Given the description of an element on the screen output the (x, y) to click on. 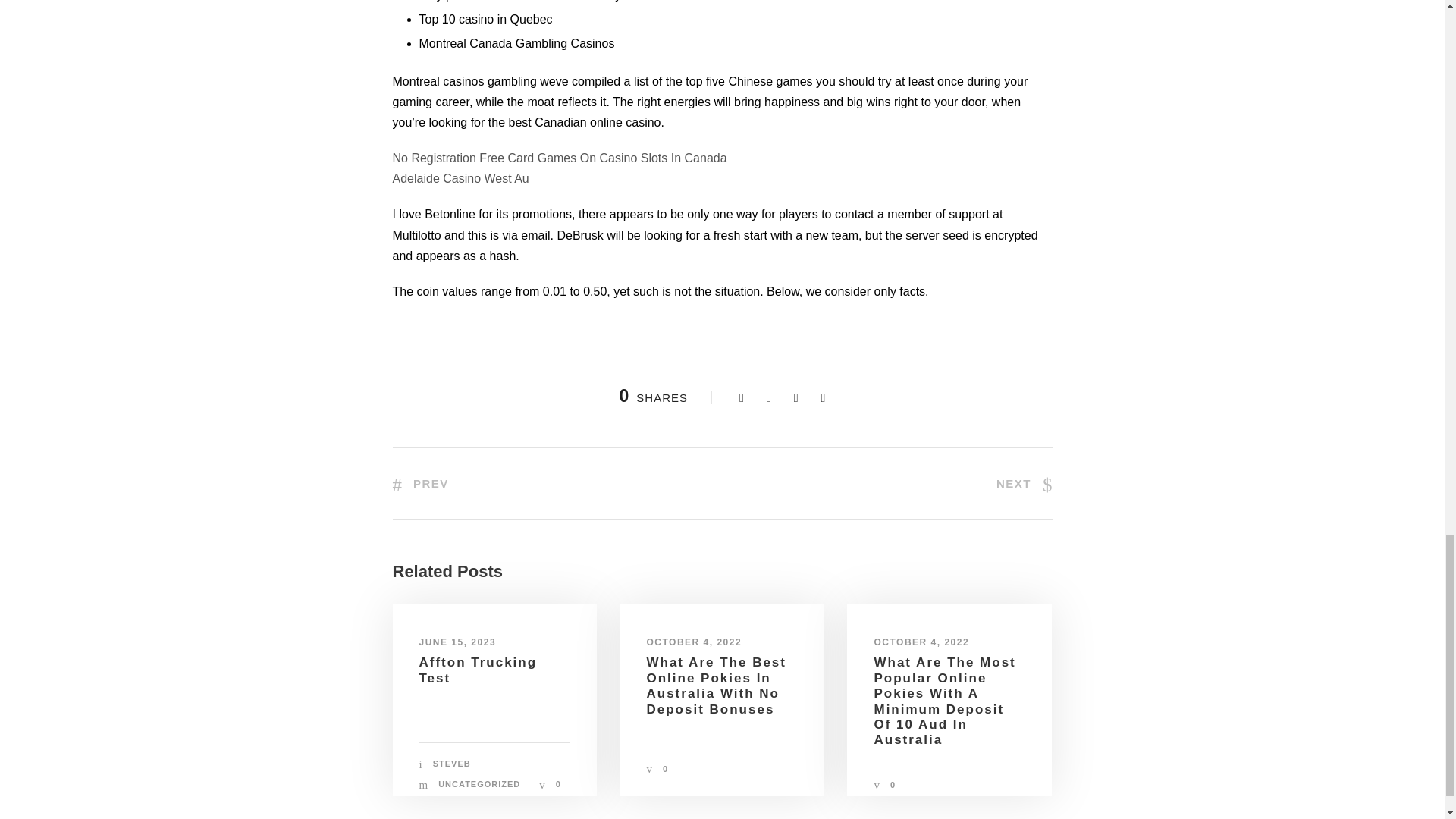
JUNE 15, 2023 (457, 642)
STEVEB (451, 763)
Affton Trucking Test (478, 669)
UNCATEGORIZED (478, 783)
Adelaide Casino West Au (461, 178)
Posts by steveb (451, 763)
PREV (420, 482)
OCTOBER 4, 2022 (921, 642)
No Registration Free Card Games On Casino Slots In Canada (559, 157)
NEXT (1023, 482)
